Given the description of an element on the screen output the (x, y) to click on. 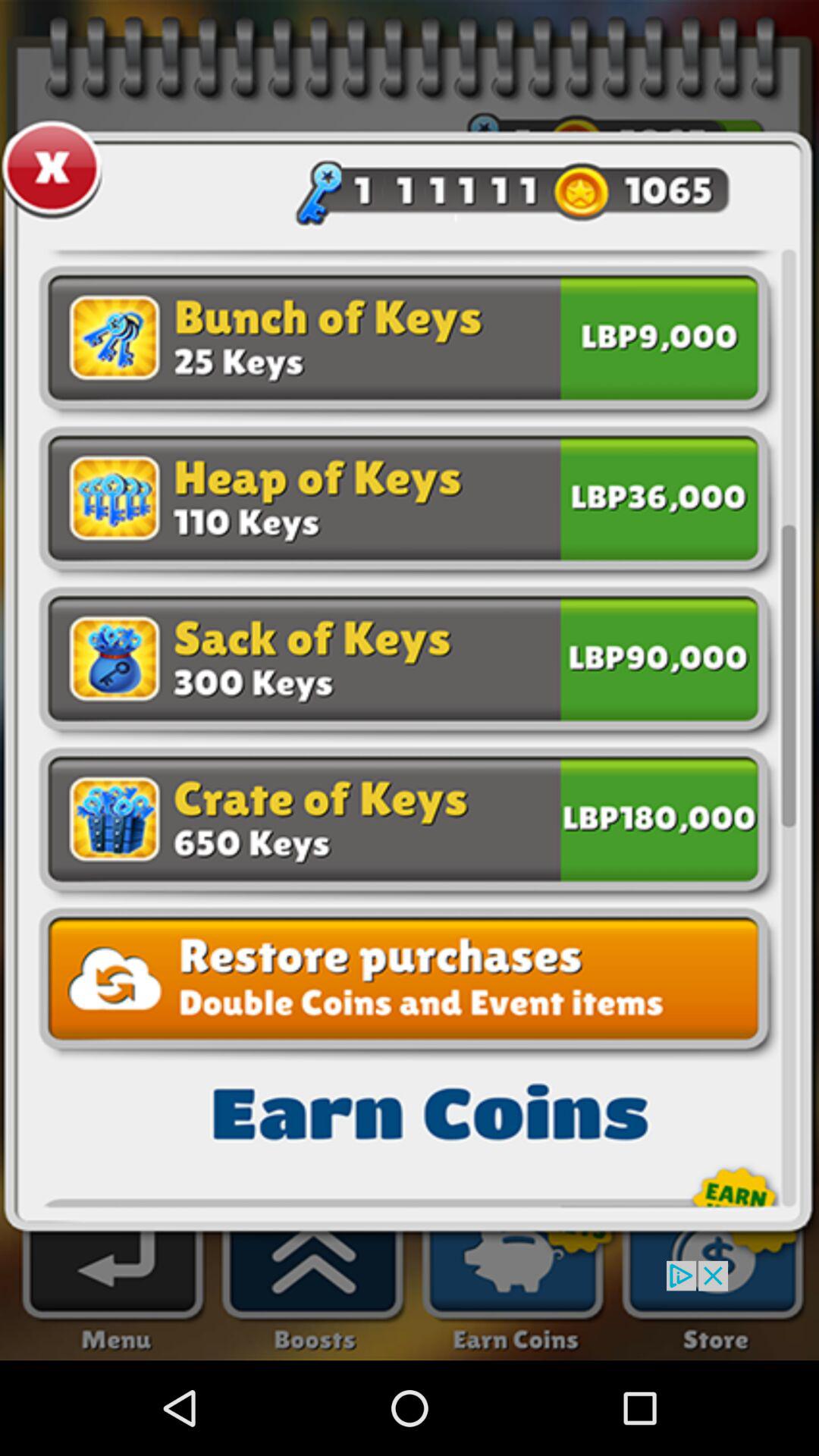
check bix on right (659, 495)
